Given the description of an element on the screen output the (x, y) to click on. 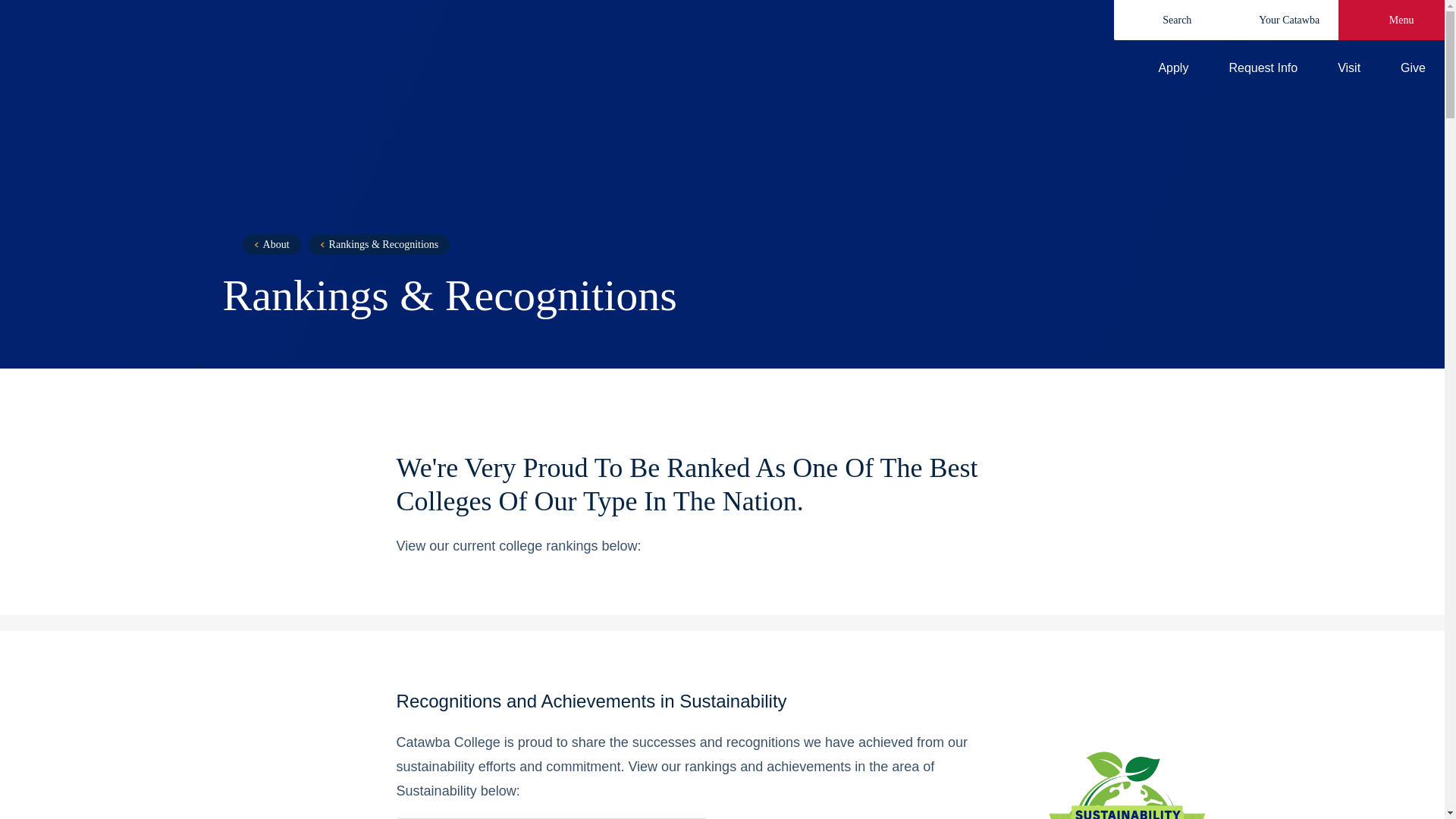
Apply (1160, 68)
Catawba College (374, 50)
Search (1166, 20)
Visit (1336, 68)
Request Info (1250, 68)
Your Catawba (1279, 20)
About (272, 244)
Give (1400, 68)
